Given the description of an element on the screen output the (x, y) to click on. 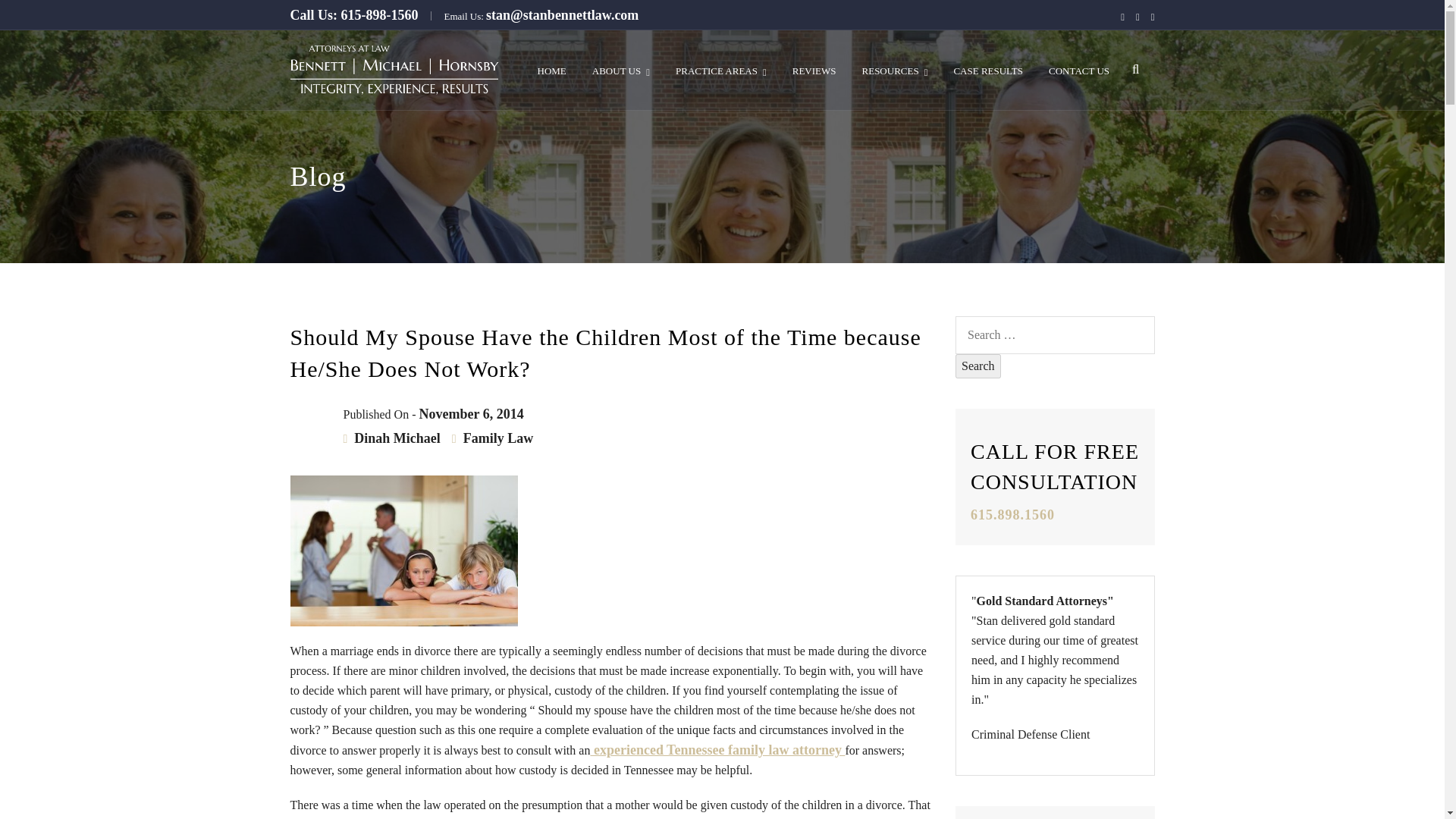
Search (978, 365)
RESOURCES (894, 65)
Search (978, 365)
PRACTICE AREAS (721, 65)
Call Us: 615-898-1560 (353, 14)
